Given the description of an element on the screen output the (x, y) to click on. 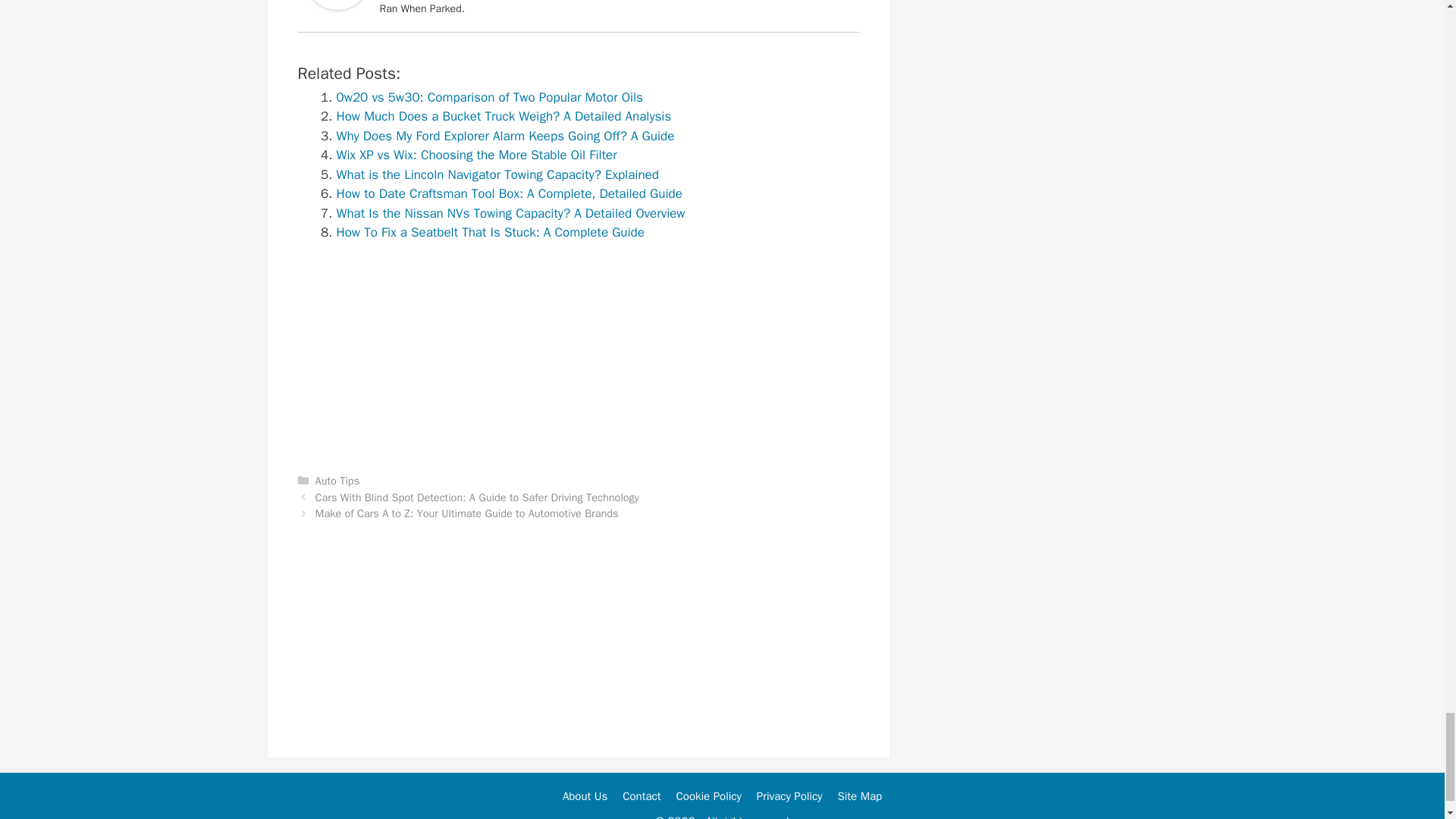
0w20 vs 5w30: Comparison of Two Popular Motor Oils (489, 97)
What Is the Nissan NVs Towing Capacity? A Detailed Overview (510, 213)
How To Fix a Seatbelt That Is Stuck: A Complete Guide (490, 232)
Ran When Parked (335, 6)
Wix XP vs Wix: Choosing the More Stable Oil Filter (476, 154)
What is the Lincoln Navigator Towing Capacity? Explained (497, 174)
Why Does My Ford Explorer Alarm Keeps Going Off? A Guide (505, 135)
How to Date Craftsman Tool Box: A Complete, Detailed Guide (509, 193)
